Given the description of an element on the screen output the (x, y) to click on. 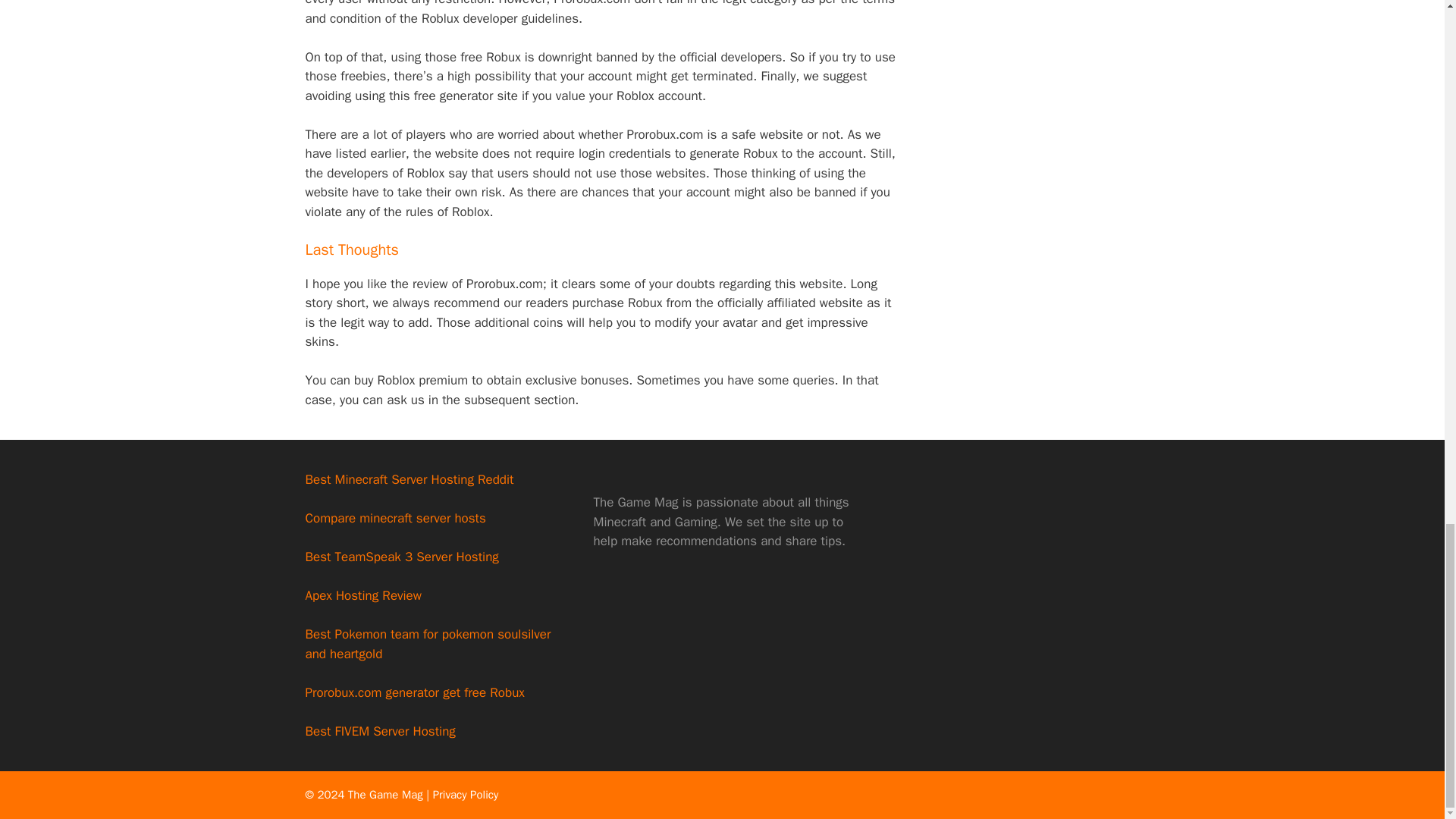
Best Minecraft Server Hosting Reddit (408, 479)
Compare minecraft server hosts (394, 518)
Prorobux.com generator get free Robux (414, 692)
Best FIVEM Server Hosting (379, 731)
Best Pokemon team for pokemon soulsilver and heartgold (427, 643)
Apex Hosting Review (362, 595)
Best TeamSpeak 3 Server Hosting (400, 556)
Privacy Policy (465, 794)
